Given the description of an element on the screen output the (x, y) to click on. 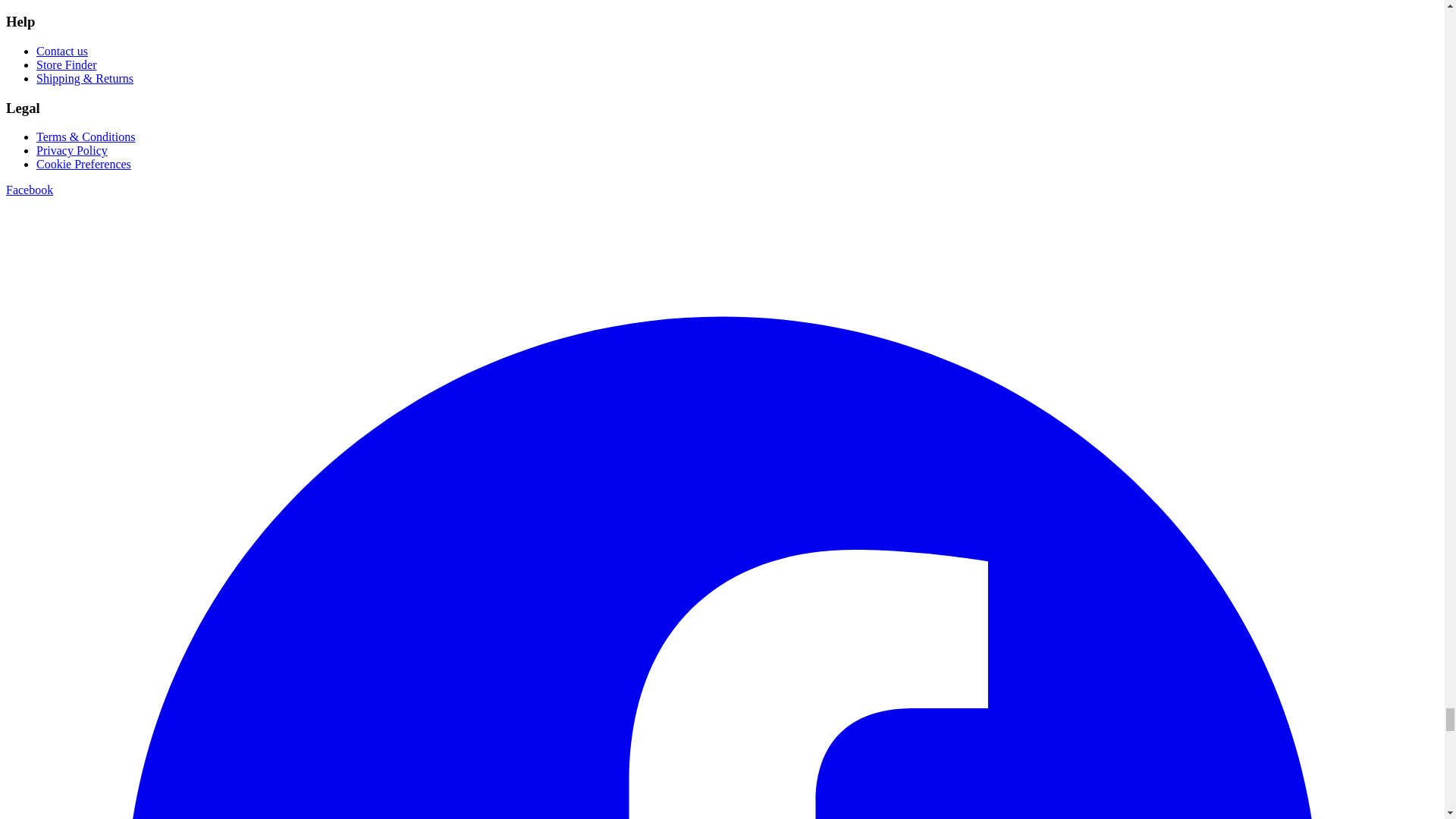
Contact us (61, 51)
Store Finder (66, 64)
Cookie Preferences (83, 164)
Privacy Policy (71, 150)
